Given the description of an element on the screen output the (x, y) to click on. 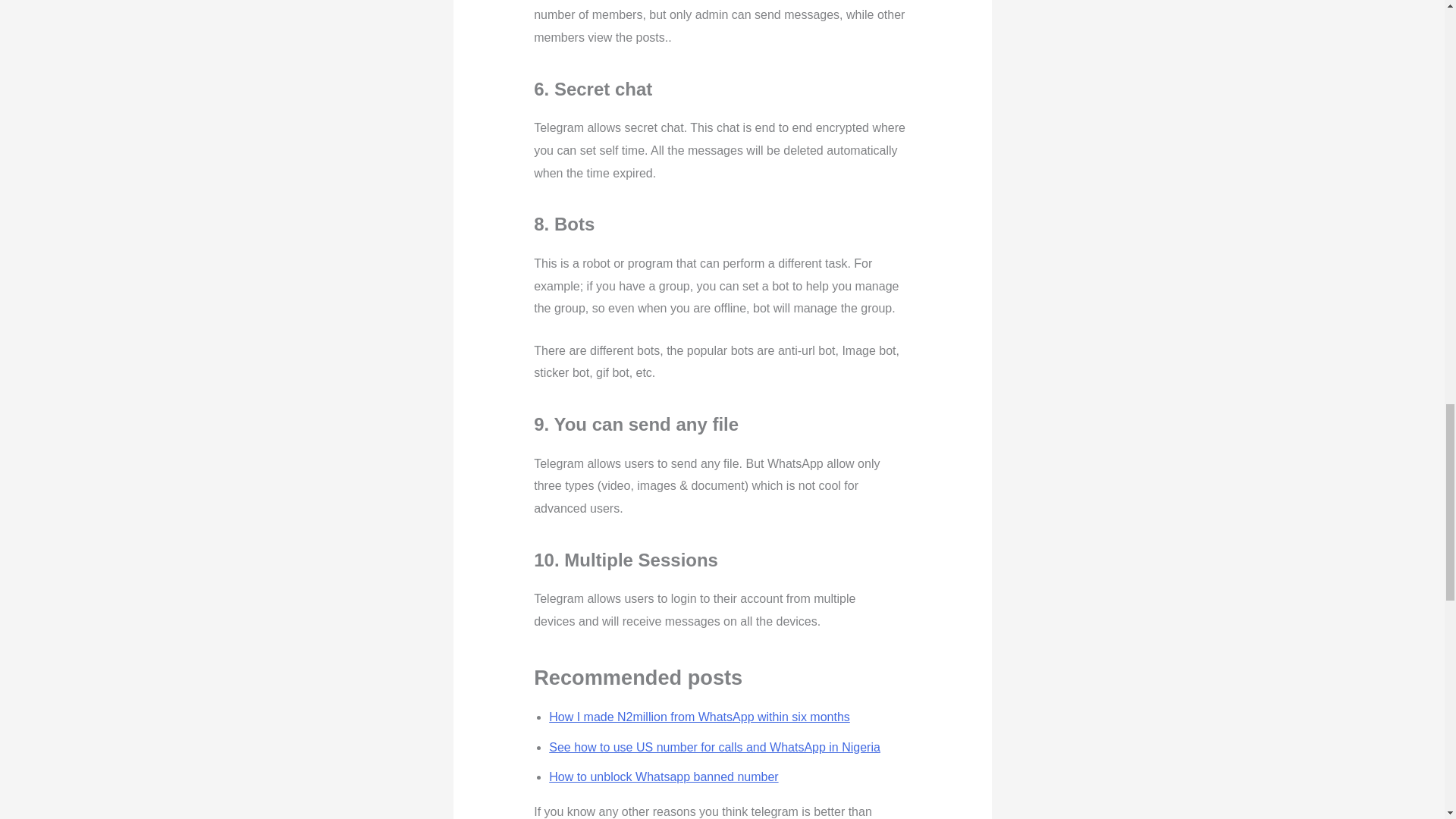
Unknown word: url (808, 350)
How I made N2million from WhatsApp within six months (699, 716)
Possible confused word (761, 308)
Possible confused word (601, 372)
How to unblock Whatsapp banned number (662, 776)
See how to use US number for calls and WhatsApp in Nigeria (714, 747)
